Given the description of an element on the screen output the (x, y) to click on. 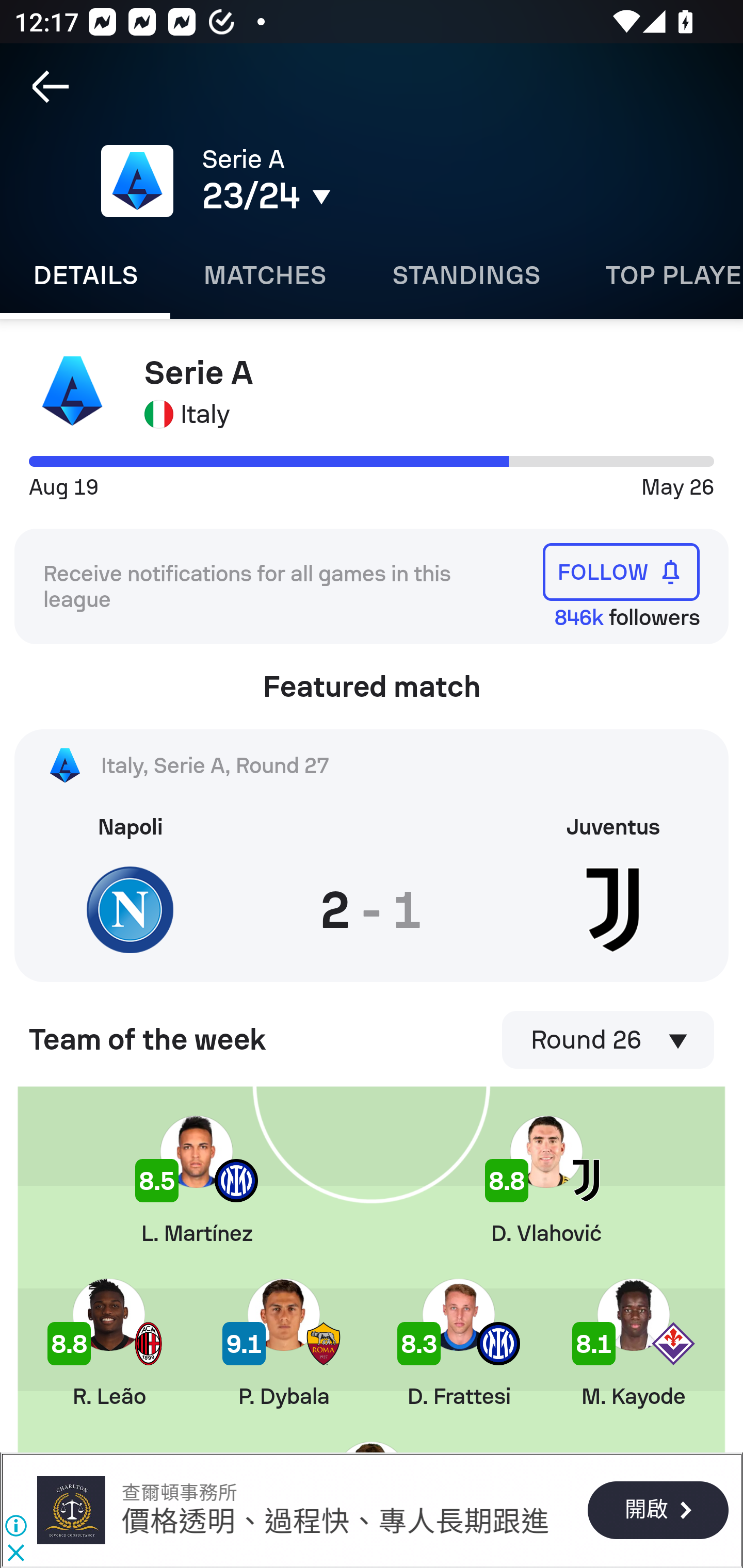
Navigate up (50, 86)
23/24 (350, 195)
Matches MATCHES (264, 275)
Standings STANDINGS (465, 275)
Top players TOP PLAYERS (657, 275)
FOLLOW (621, 571)
Round 26 (608, 1040)
L. Martínez (196, 1181)
D. Vlahović (546, 1181)
R. Leão (108, 1343)
P. Dybala (283, 1343)
D. Frattesi (458, 1343)
M. Kayode (633, 1343)
查爾頓事務所 (71, 1509)
查爾頓事務所 (179, 1493)
開啟 (657, 1511)
價格透明、過程快、專人長期跟進 (335, 1523)
